Given the description of an element on the screen output the (x, y) to click on. 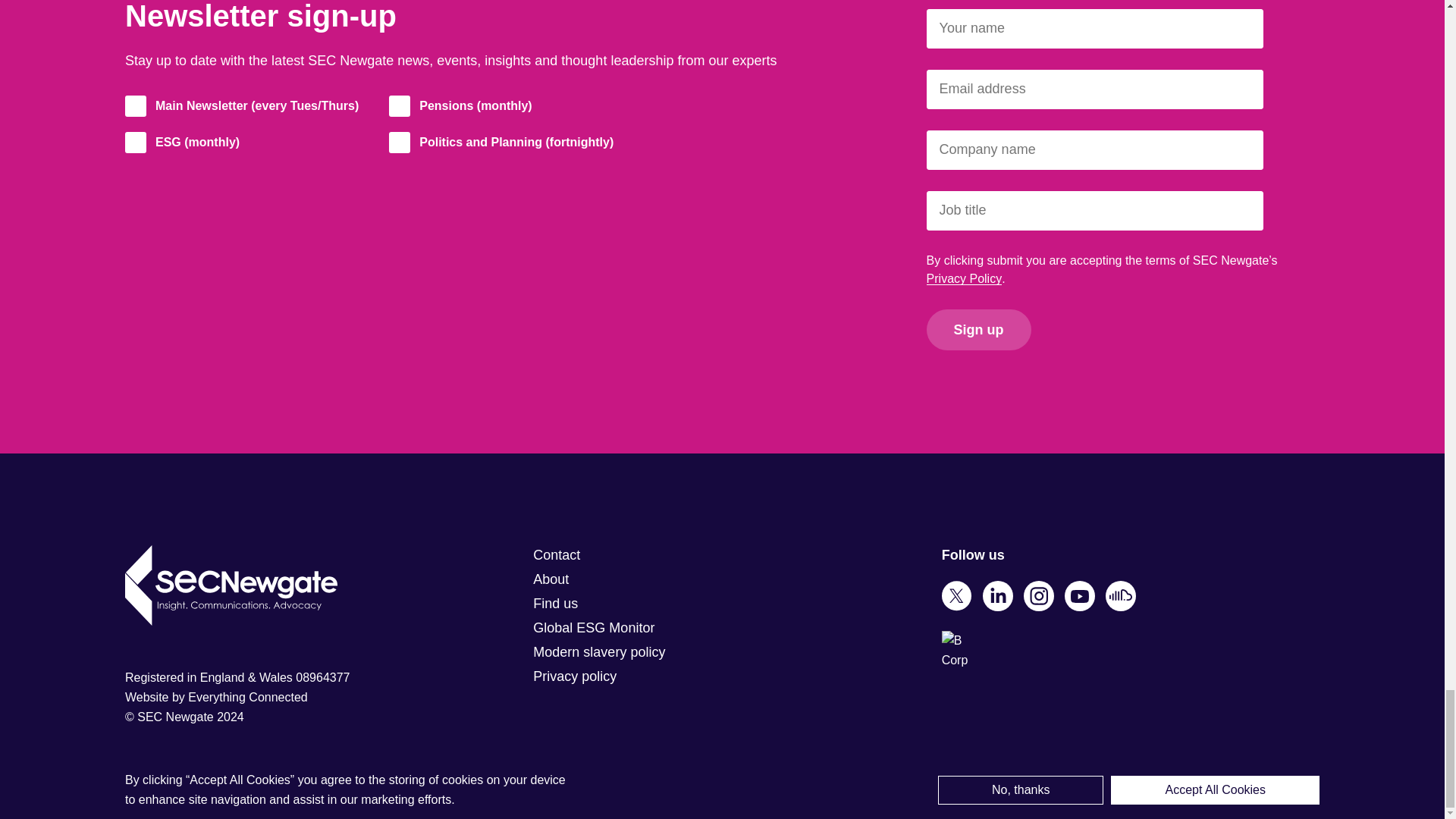
Sign up (978, 329)
pensions (399, 106)
esg (136, 142)
